Given the description of an element on the screen output the (x, y) to click on. 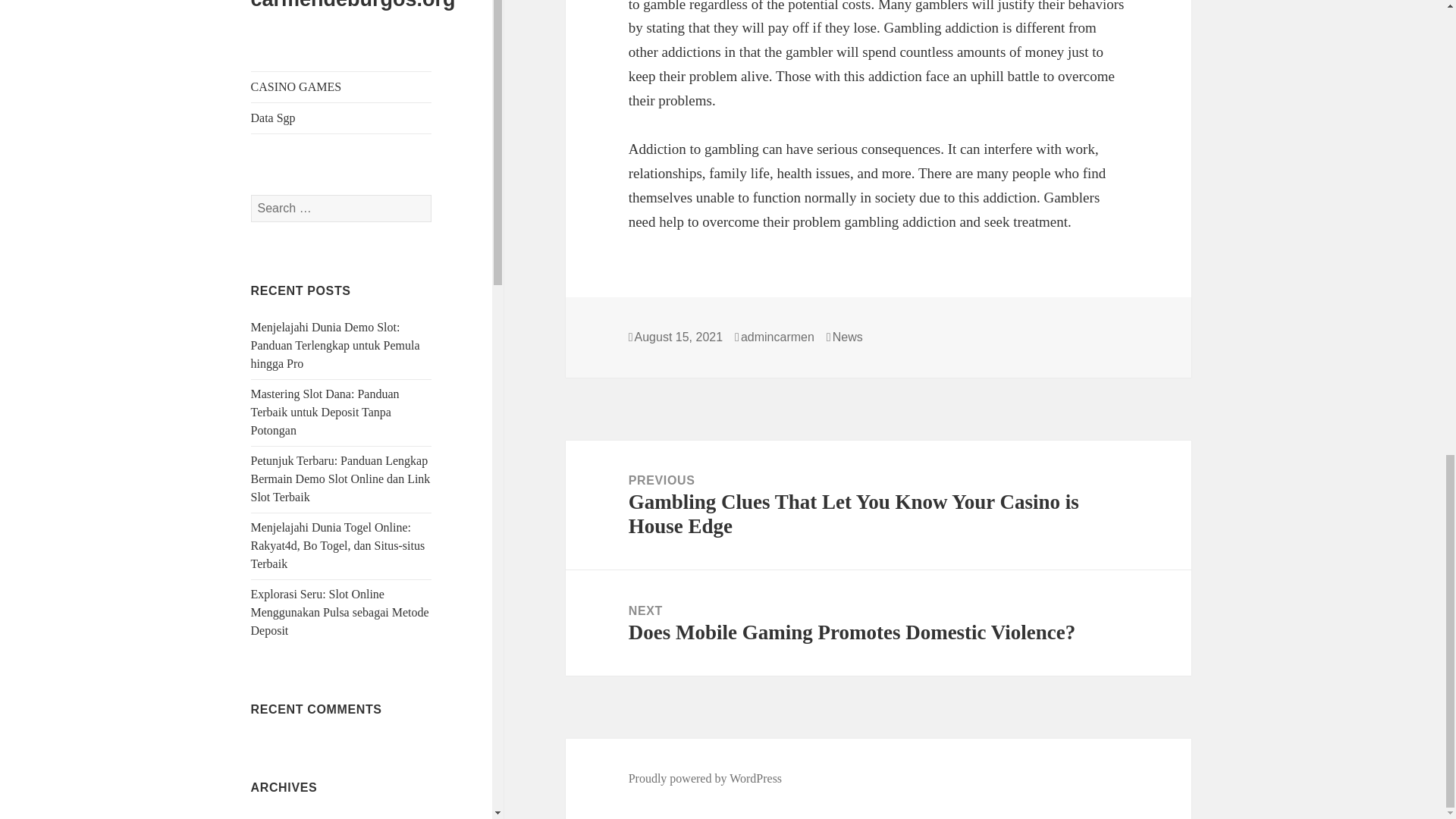
October 2023 (283, 139)
January 2024 (282, 48)
July 2022 (274, 594)
June 2023 (274, 260)
December 2022 (289, 442)
April 2022 (277, 685)
April 2023 (277, 321)
July 2023 (274, 230)
February 2023 (285, 382)
November 2022 (290, 472)
February 2024 (285, 18)
May 2023 (274, 291)
August 2022 (281, 563)
September 2022 (290, 533)
November 2023 (290, 109)
